Given the description of an element on the screen output the (x, y) to click on. 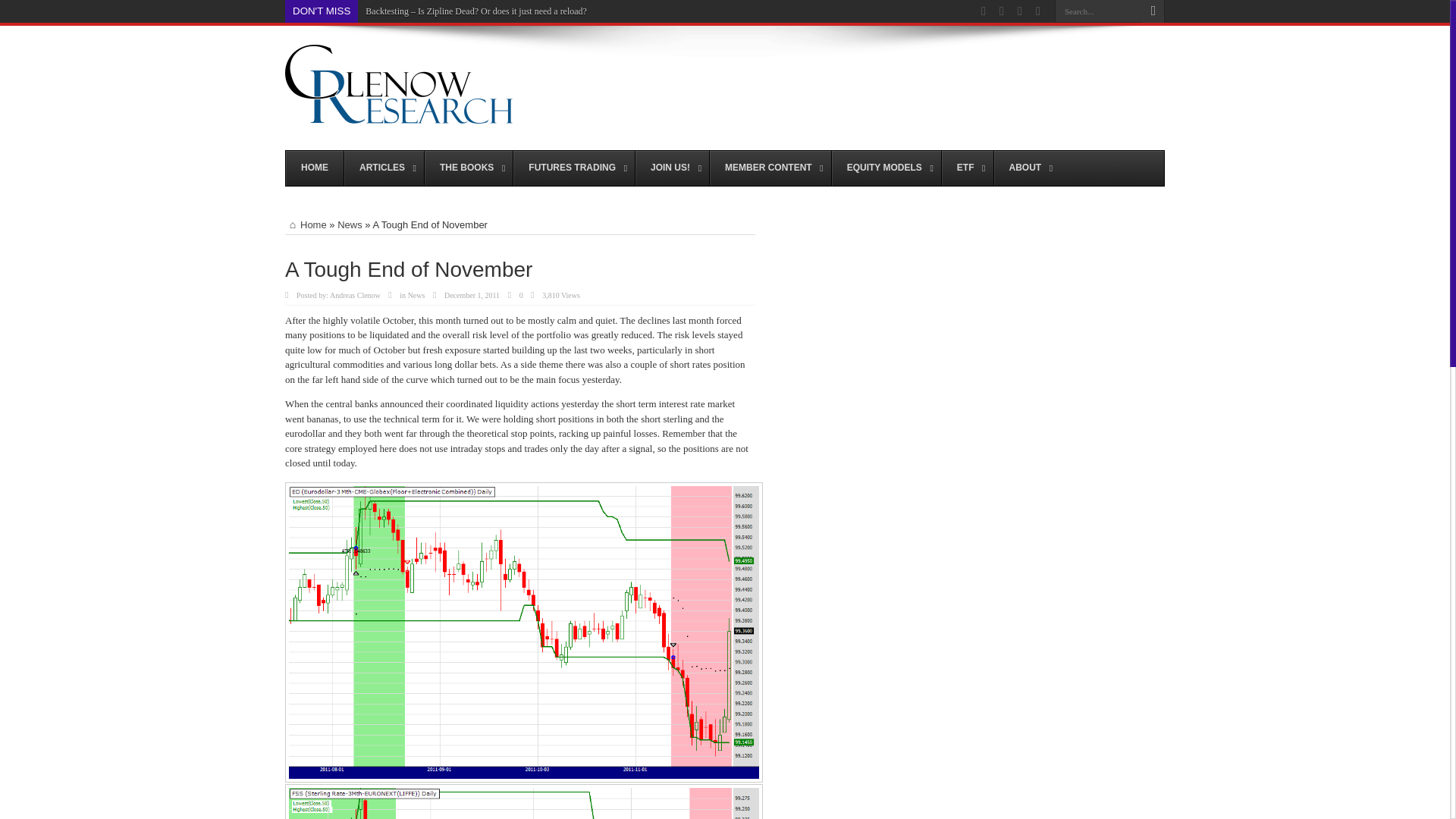
HOME (314, 167)
Search (1152, 11)
Following the Trend (398, 115)
THE BOOKS (467, 167)
FUTURES TRADING (573, 167)
JOIN US! (671, 167)
ARTICLES (383, 167)
Search... (1097, 11)
